Given the description of an element on the screen output the (x, y) to click on. 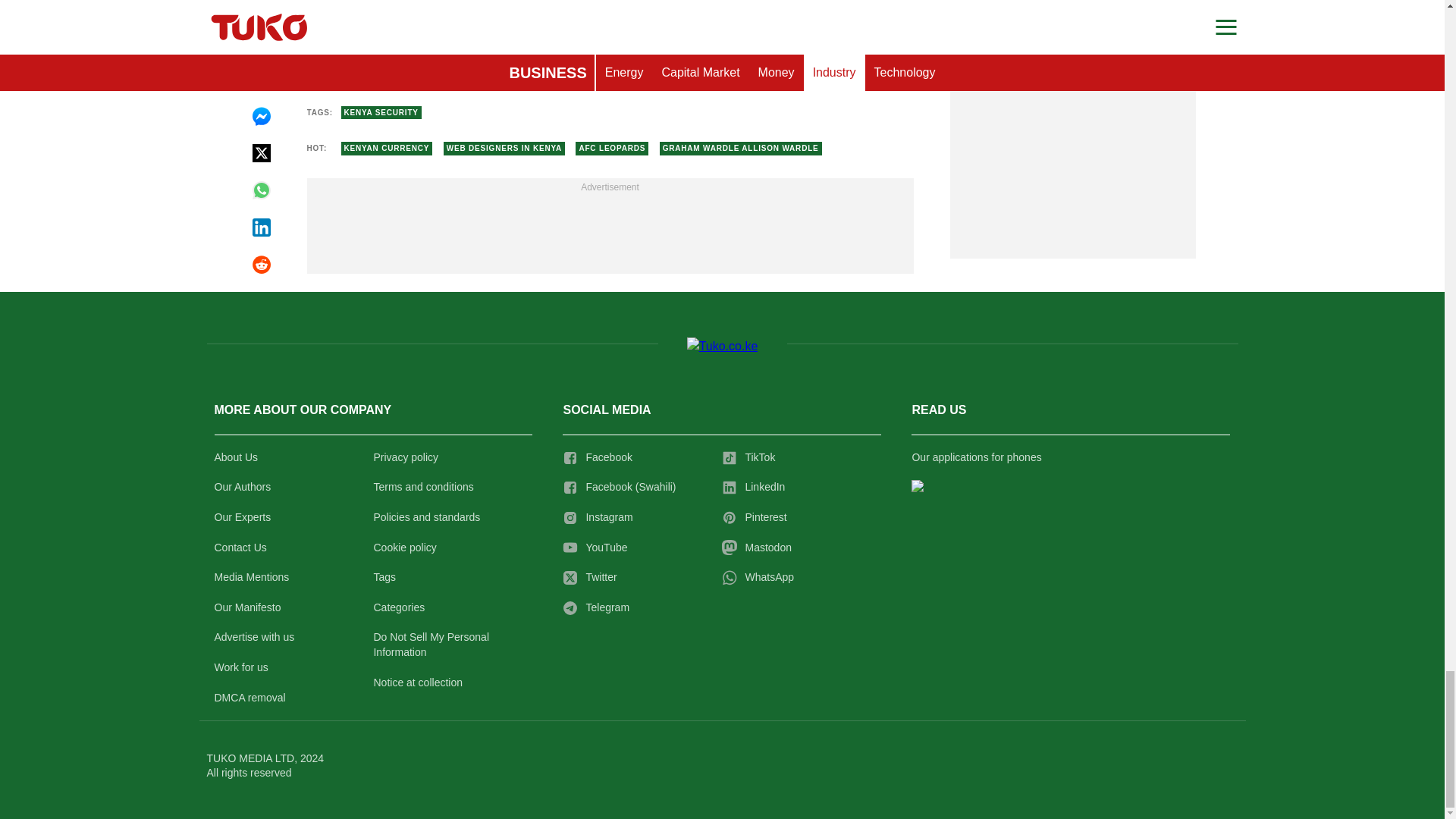
Author page (765, 63)
Author page (453, 63)
